Given the description of an element on the screen output the (x, y) to click on. 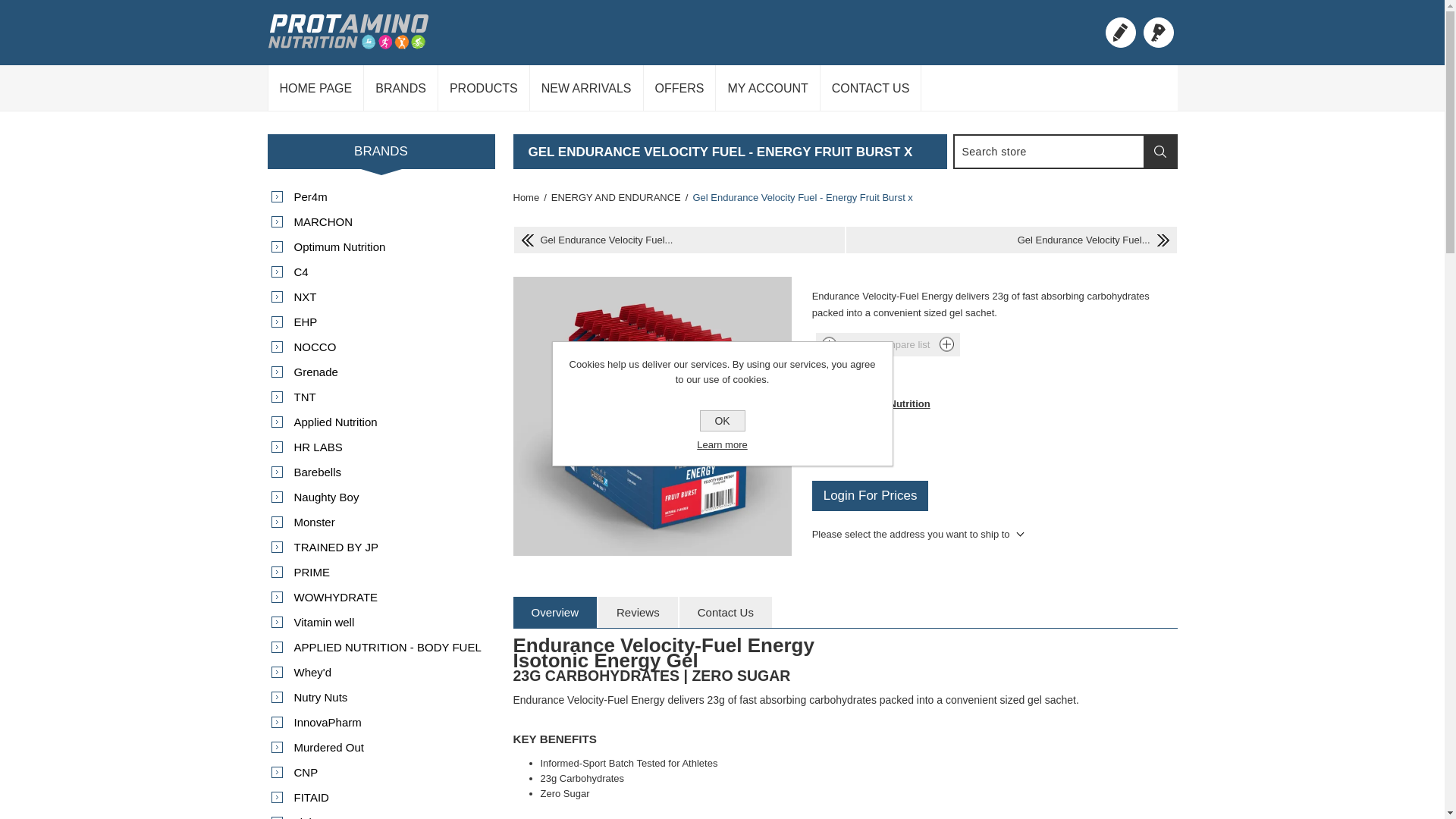
Register (1120, 32)
Log in (1157, 32)
Register (1120, 32)
Brands (401, 88)
HOME PAGE (316, 88)
Home Page (316, 88)
BRANDS (401, 88)
Log in (1157, 32)
